Given the description of an element on the screen output the (x, y) to click on. 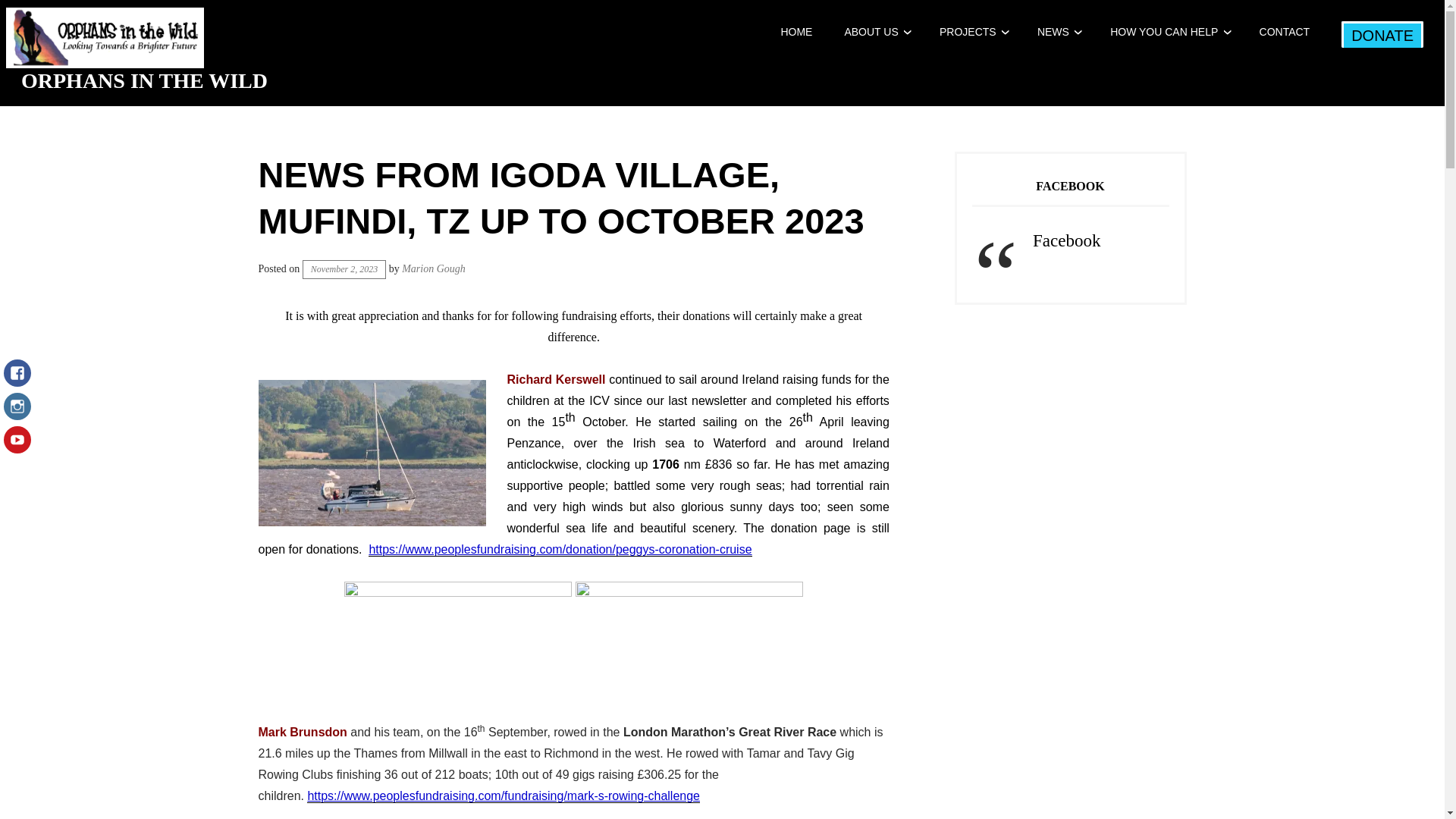
DONATE (1381, 34)
NEWS (1052, 31)
HOME (796, 31)
CONTACT (1284, 31)
ABOUT US (871, 31)
HOW YOU CAN HELP (1163, 31)
November 2, 2023 (343, 269)
Marion Gough (433, 268)
ORPHANS IN THE WILD (144, 80)
PROJECTS (967, 31)
